Given the description of an element on the screen output the (x, y) to click on. 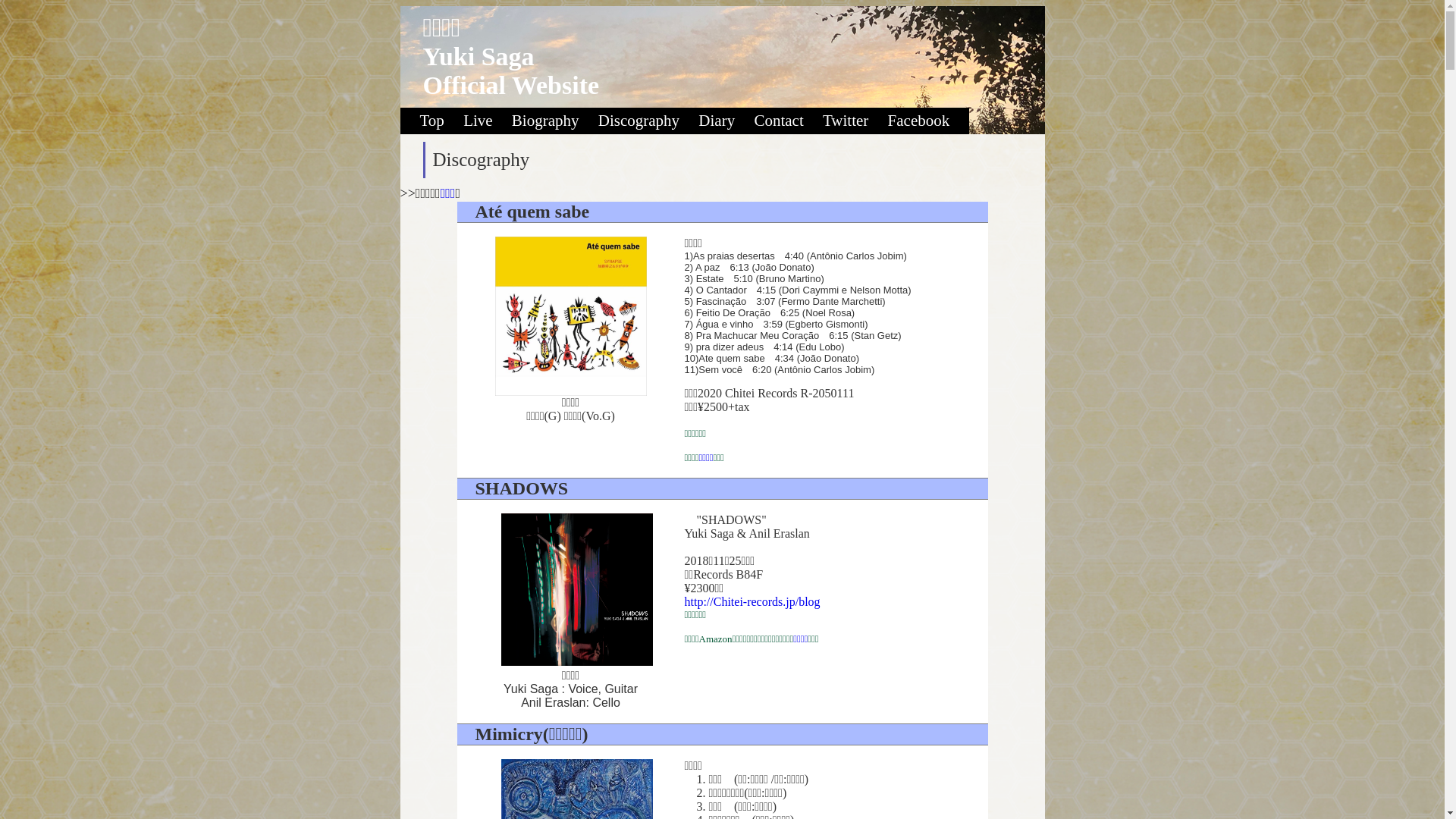
http://Chitei-records.jp/blog Element type: text (751, 601)
Contact Element type: text (786, 120)
Diary Element type: text (724, 120)
Biography Element type: text (553, 120)
Discography Element type: text (646, 120)
Facebook Element type: text (927, 120)
Live Element type: text (485, 120)
Twitter Element type: text (853, 120)
Top Element type: text (431, 120)
